Given the description of an element on the screen output the (x, y) to click on. 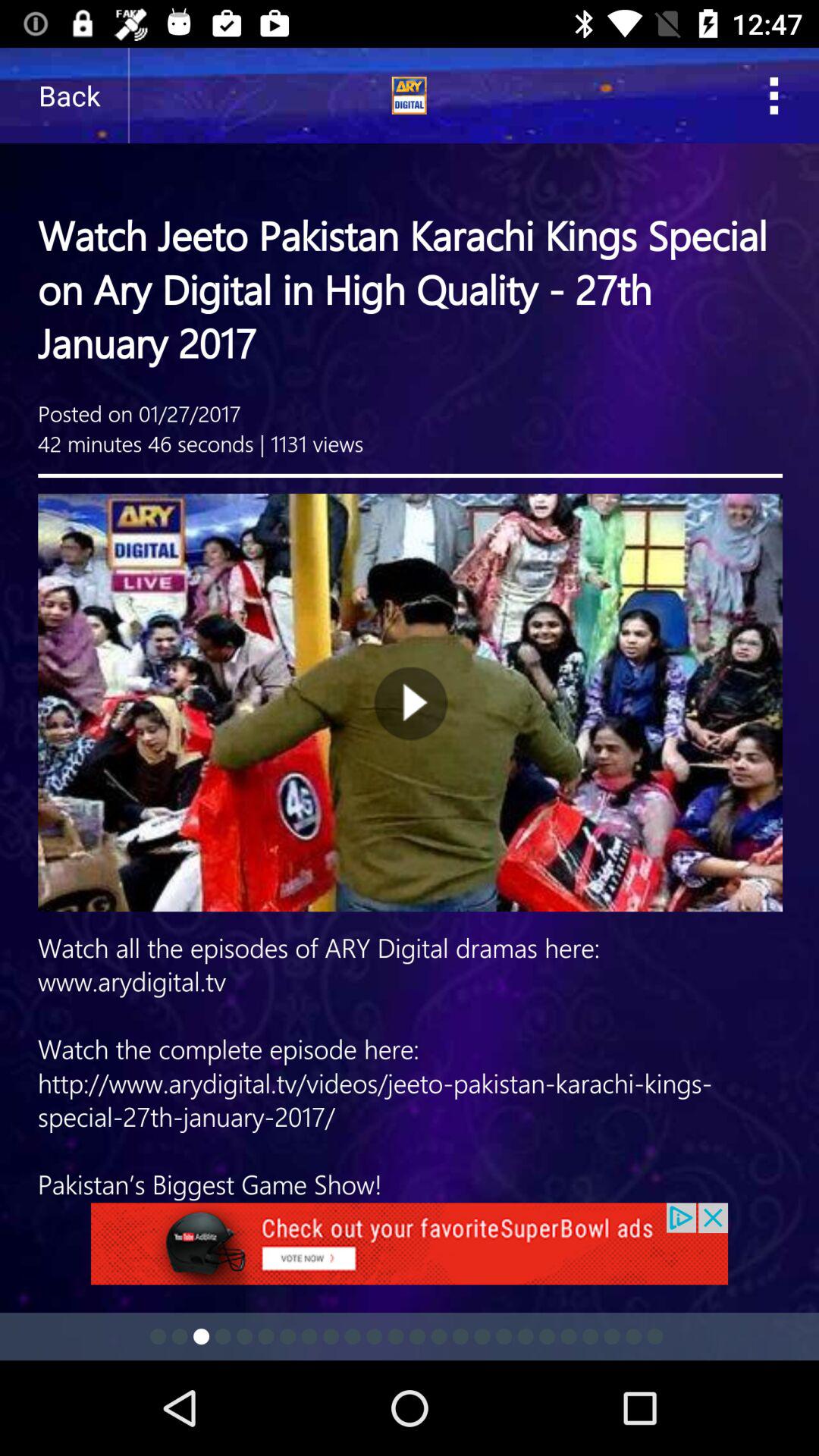
add the option (409, 1252)
